Given the description of an element on the screen output the (x, y) to click on. 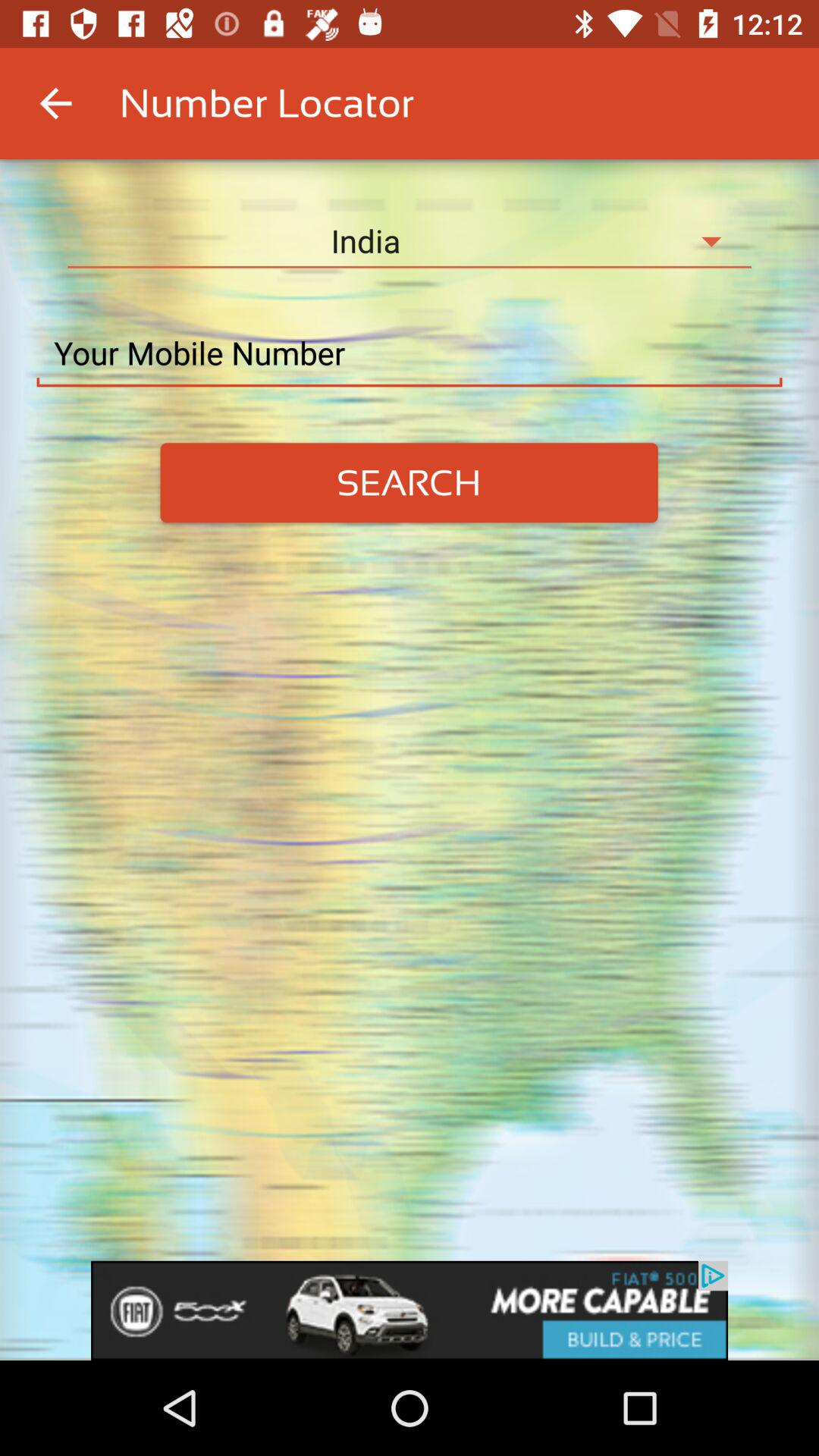
type in your mobile number (409, 353)
